Given the description of an element on the screen output the (x, y) to click on. 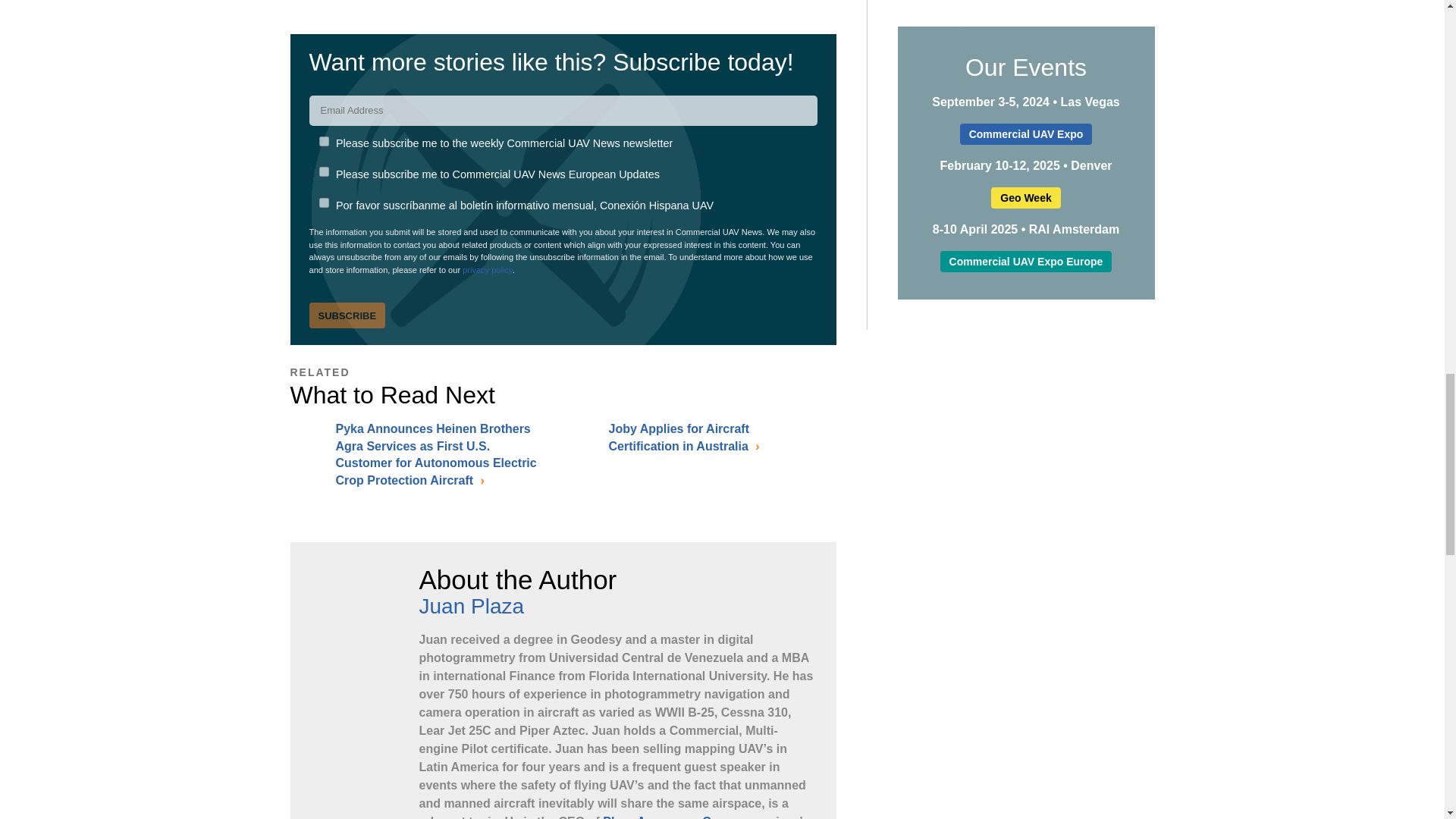
yes (323, 171)
yes (323, 203)
yes (323, 141)
